Given the description of an element on the screen output the (x, y) to click on. 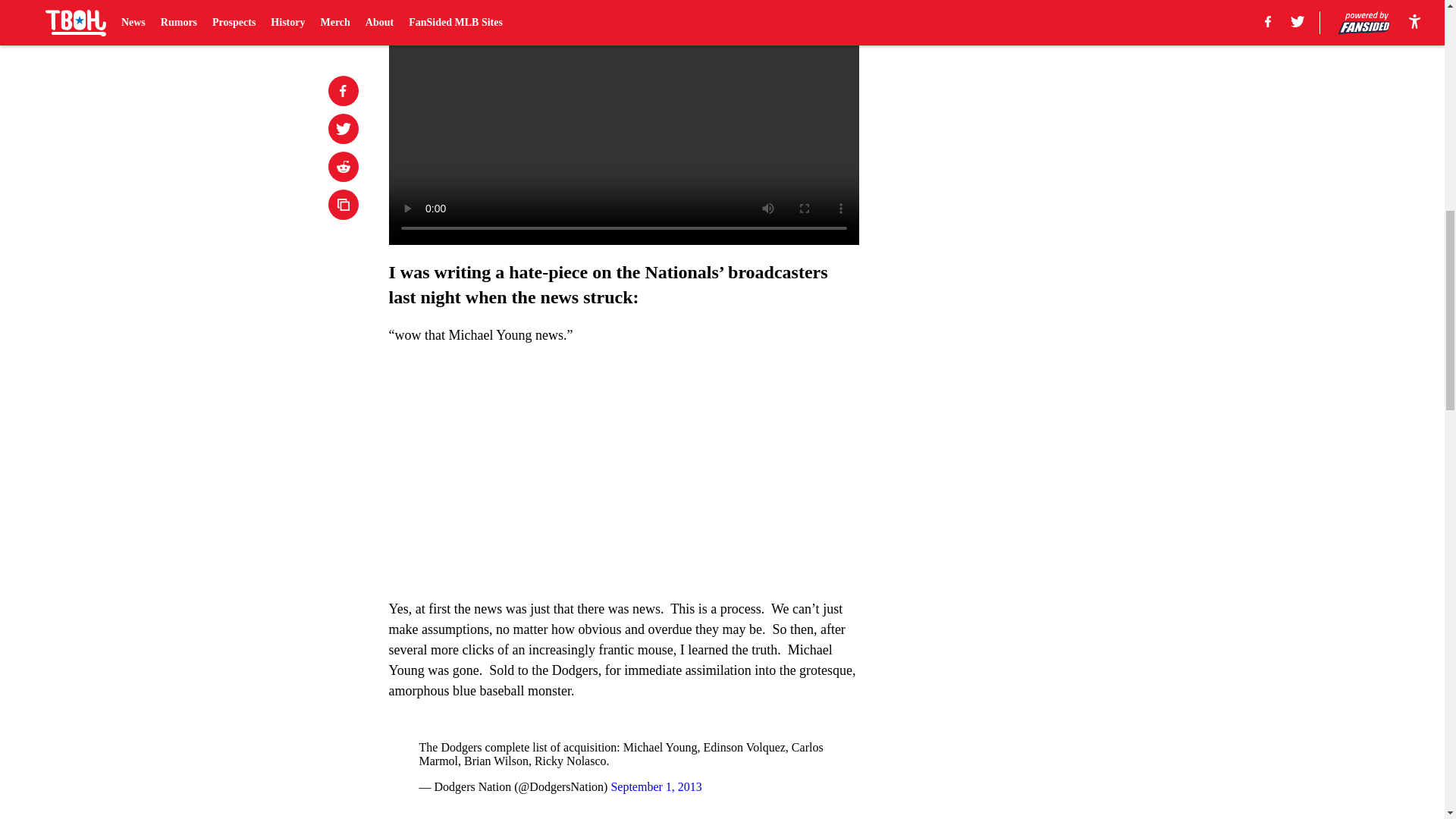
September 1, 2013 (655, 786)
3rd party ad content (1047, 84)
3rd party ad content (1047, 294)
